Given the description of an element on the screen output the (x, y) to click on. 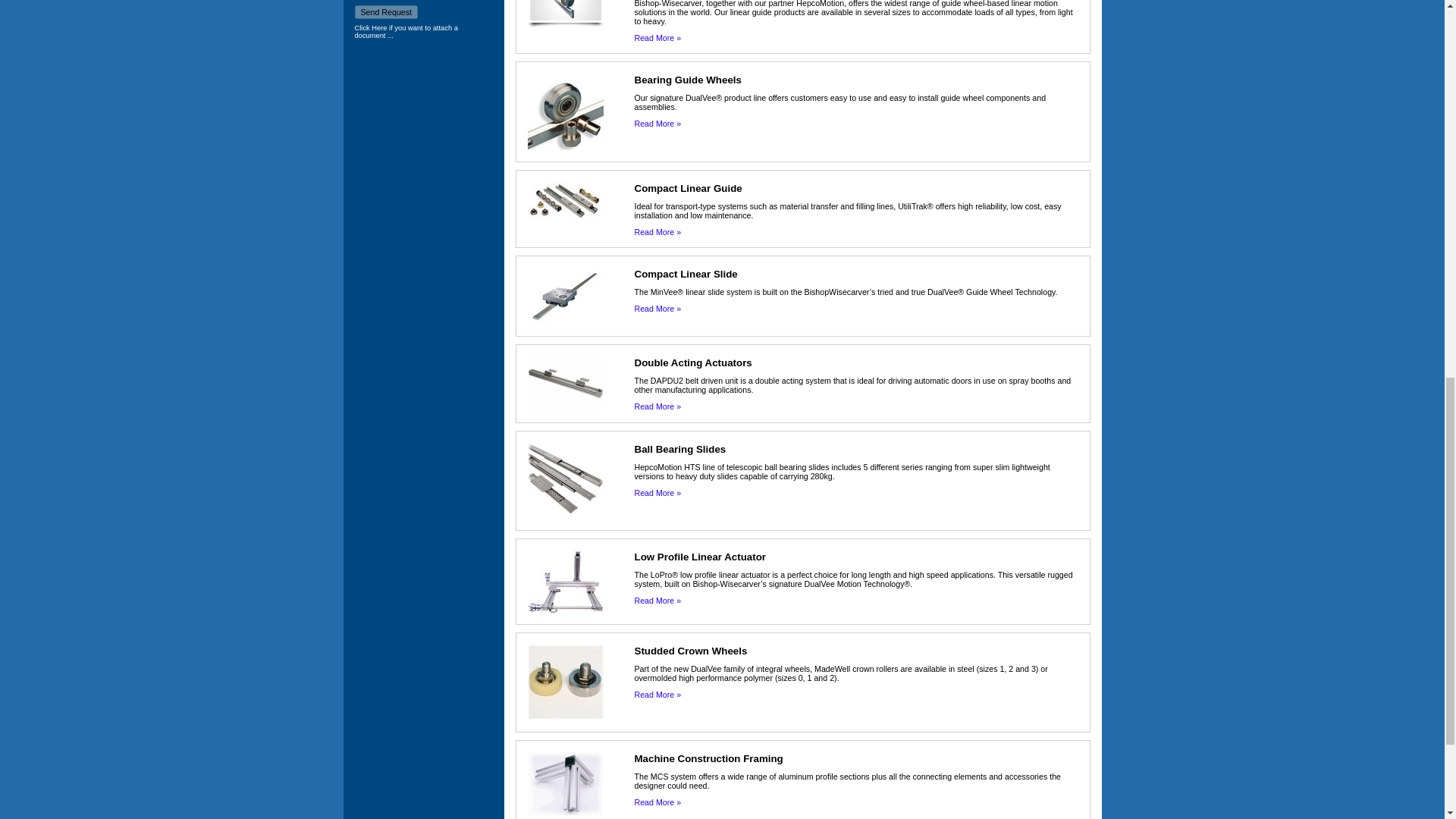
Send Request (387, 11)
